Given the description of an element on the screen output the (x, y) to click on. 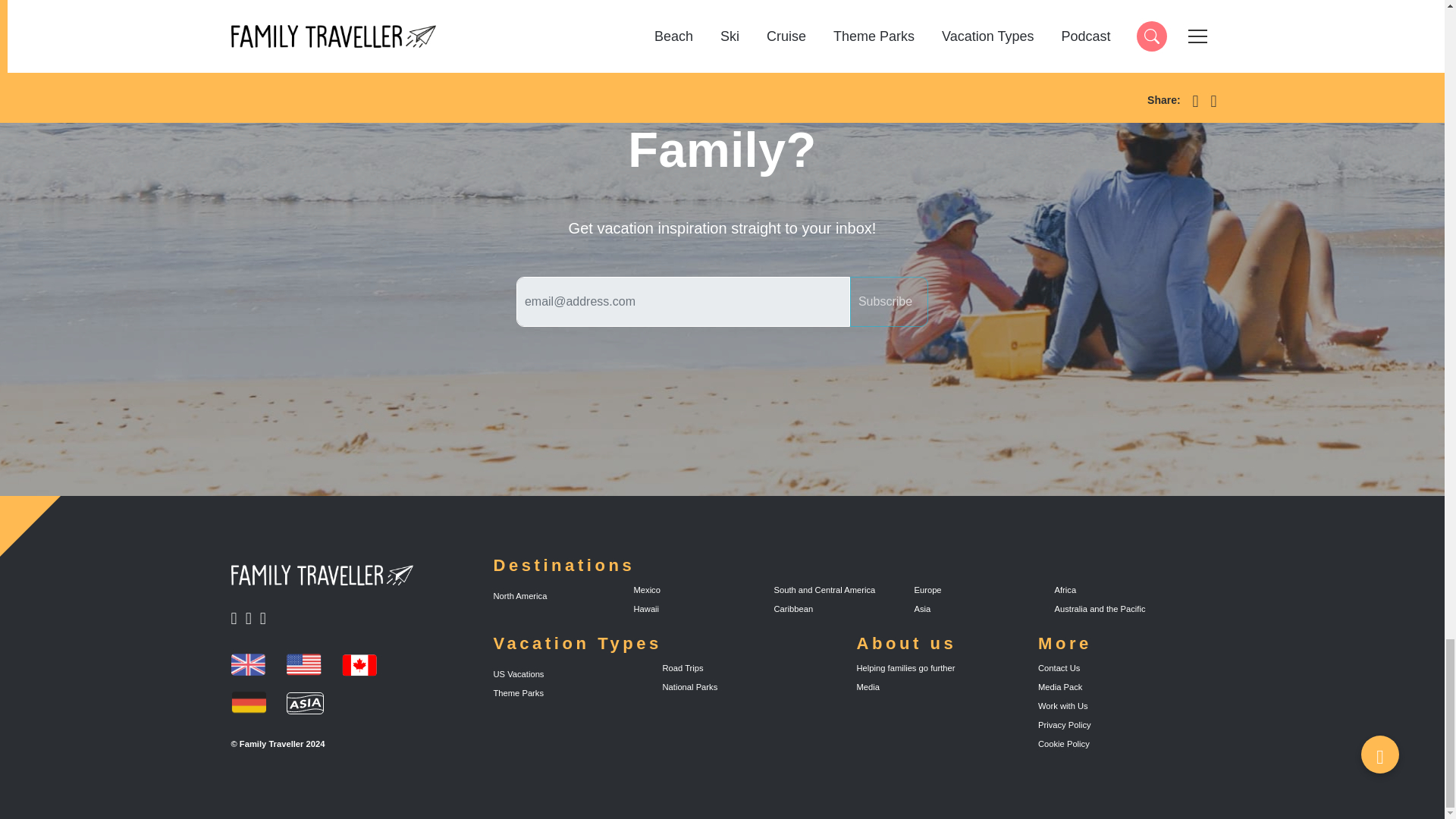
Subscribe (889, 301)
Visit Family Traveller Canada (237, 618)
Visit Family Traveller Asia (266, 618)
Visit Family Traveller UK (359, 664)
Visit Family Traveller USA (304, 701)
Visit Family Traveller DE (247, 664)
